Given the description of an element on the screen output the (x, y) to click on. 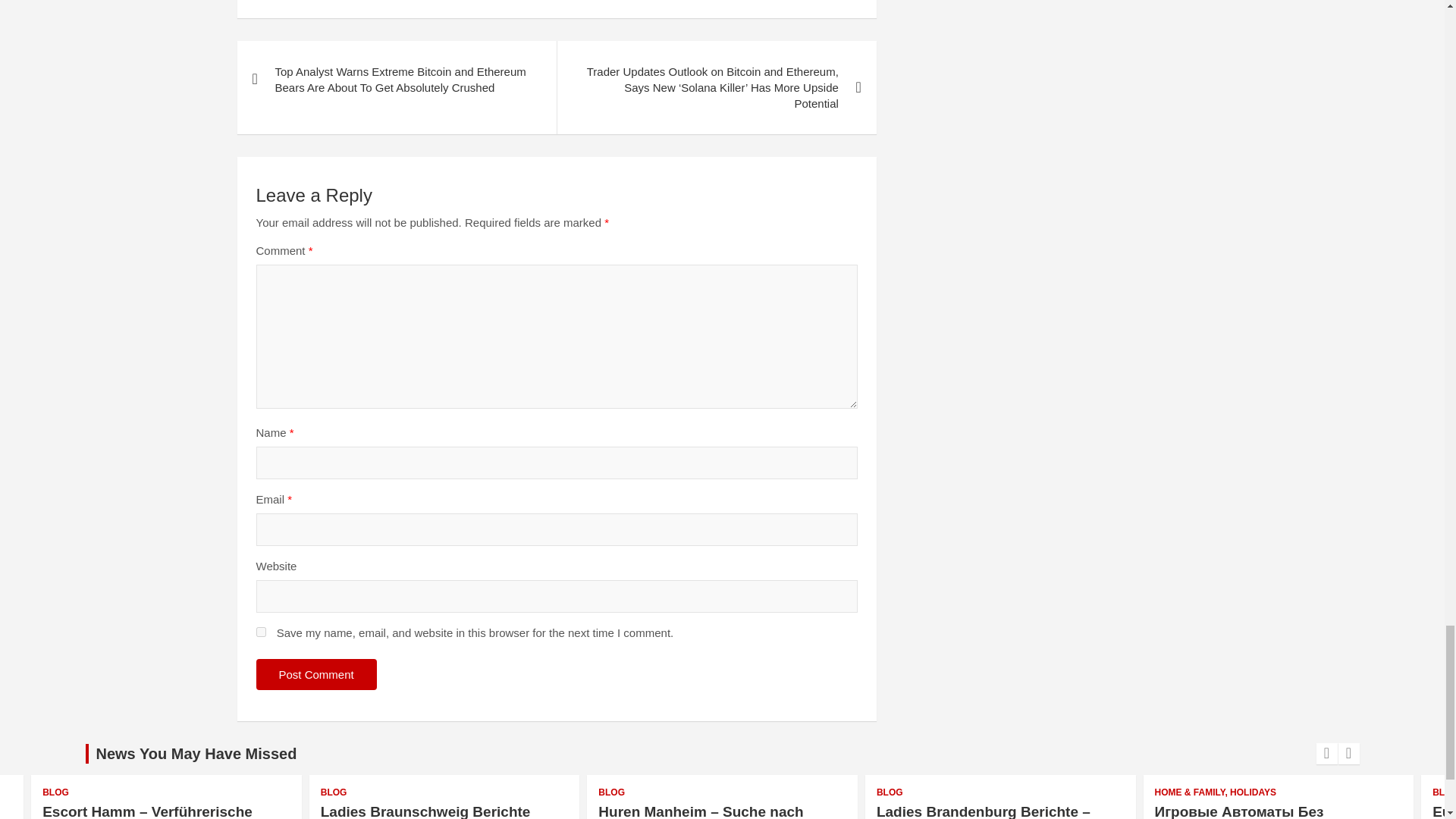
Post Comment (316, 674)
Post Comment (316, 674)
yes (261, 632)
